Given the description of an element on the screen output the (x, y) to click on. 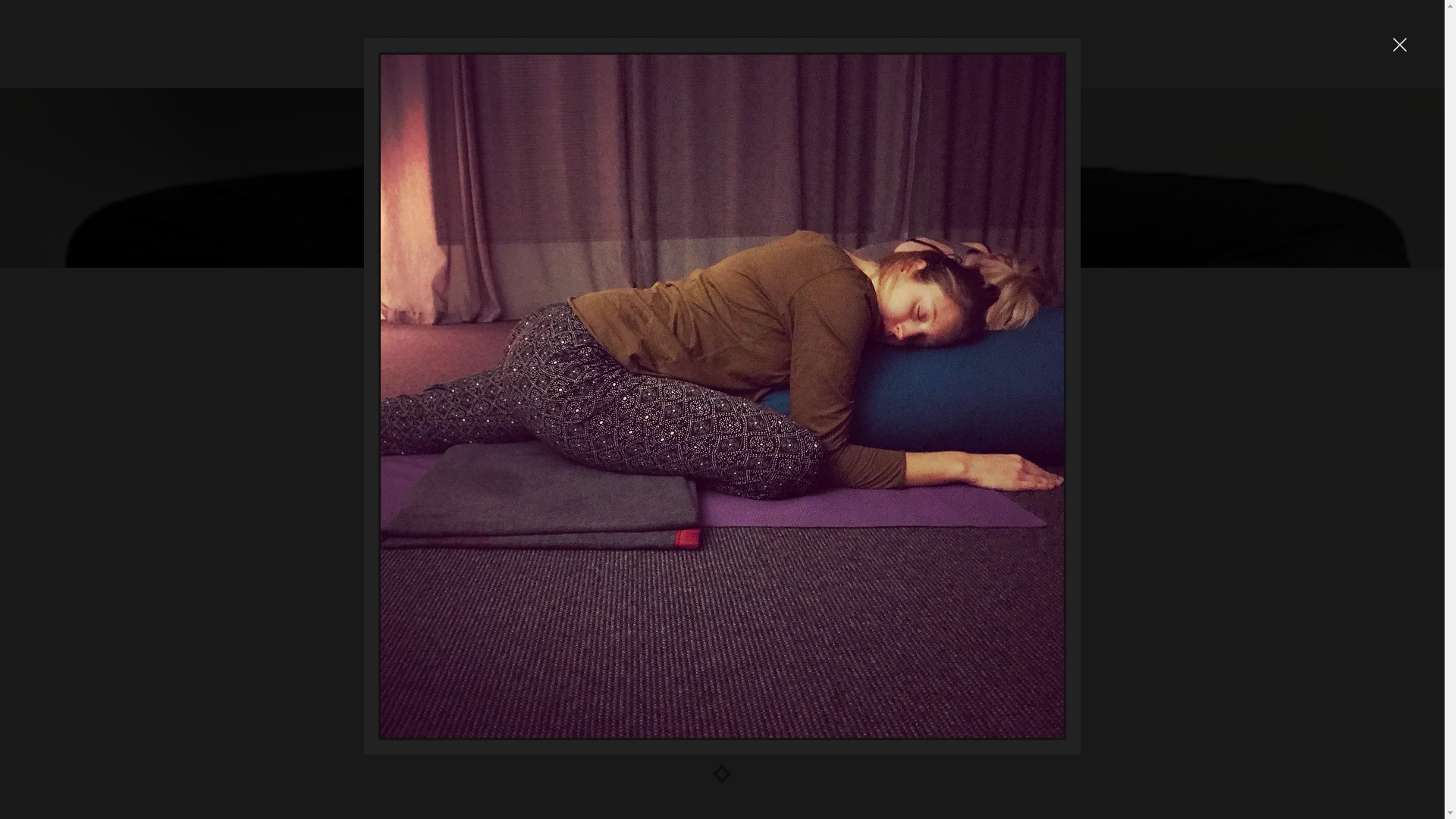
CLASSES Element type: text (664, 44)
HOME Element type: text (423, 44)
ABOUT Element type: text (539, 44)
TESTIMONIES Element type: text (806, 44)
FIND BALANCE YOGA Element type: text (726, 154)
CONTACT Element type: text (950, 44)
